Given the description of an element on the screen output the (x, y) to click on. 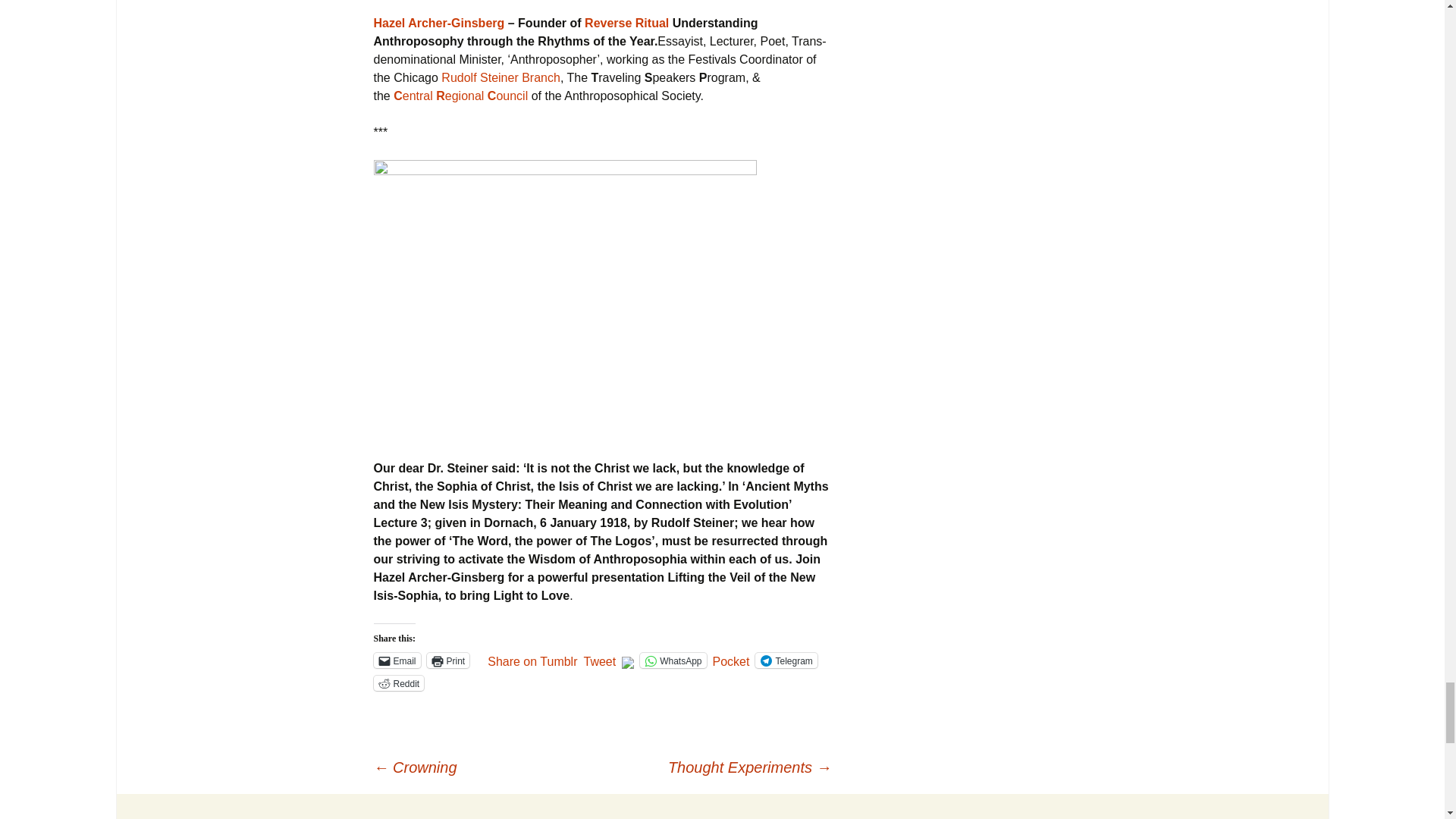
Click to email a link to a friend (396, 660)
Share on Tumblr (531, 659)
Click to print (448, 660)
Click to share on Telegram (785, 660)
Click to share on WhatsApp (673, 660)
Click to share on Reddit (397, 683)
